Given the description of an element on the screen output the (x, y) to click on. 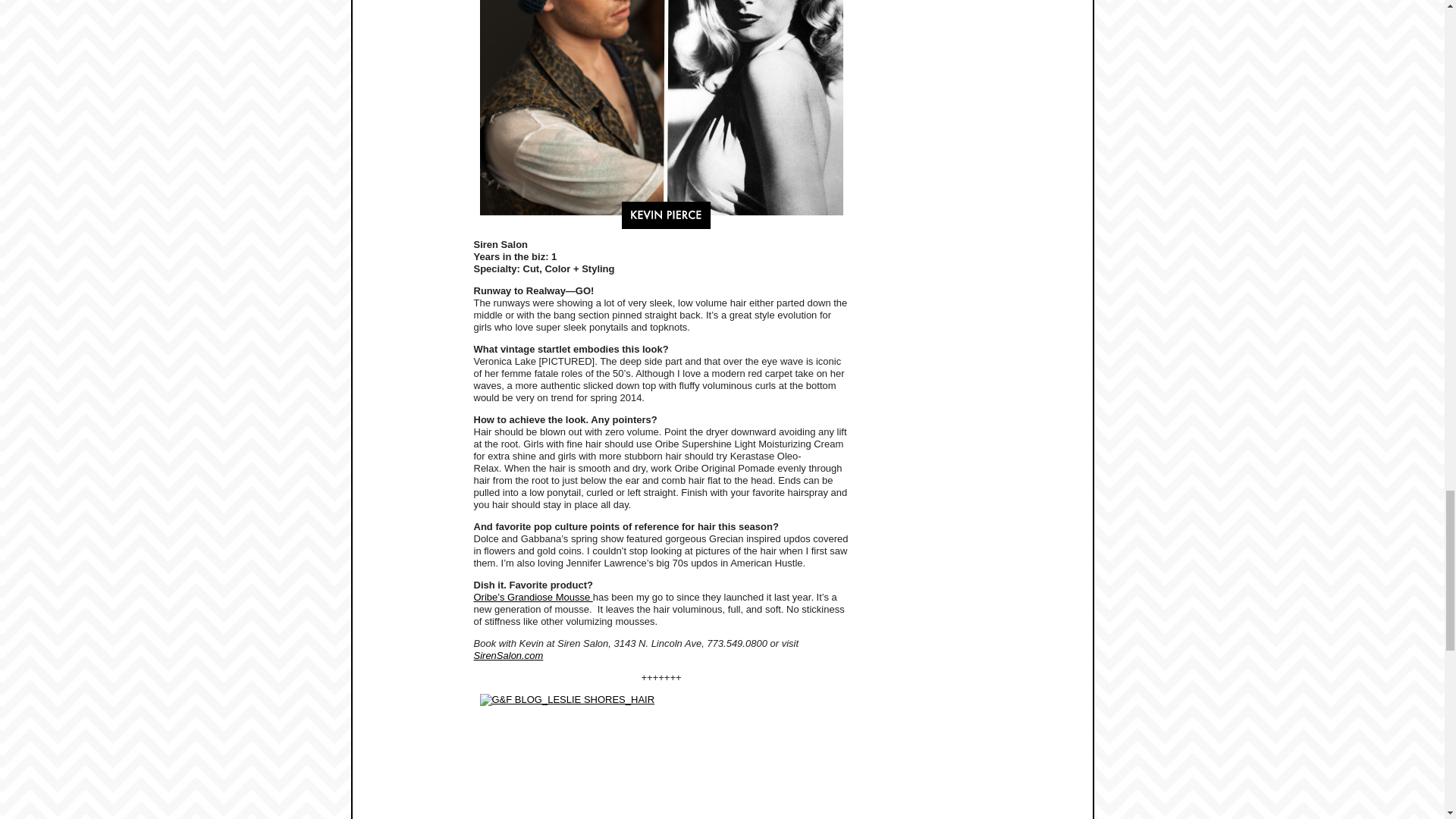
SirenSalon.com (508, 655)
